Given the description of an element on the screen output the (x, y) to click on. 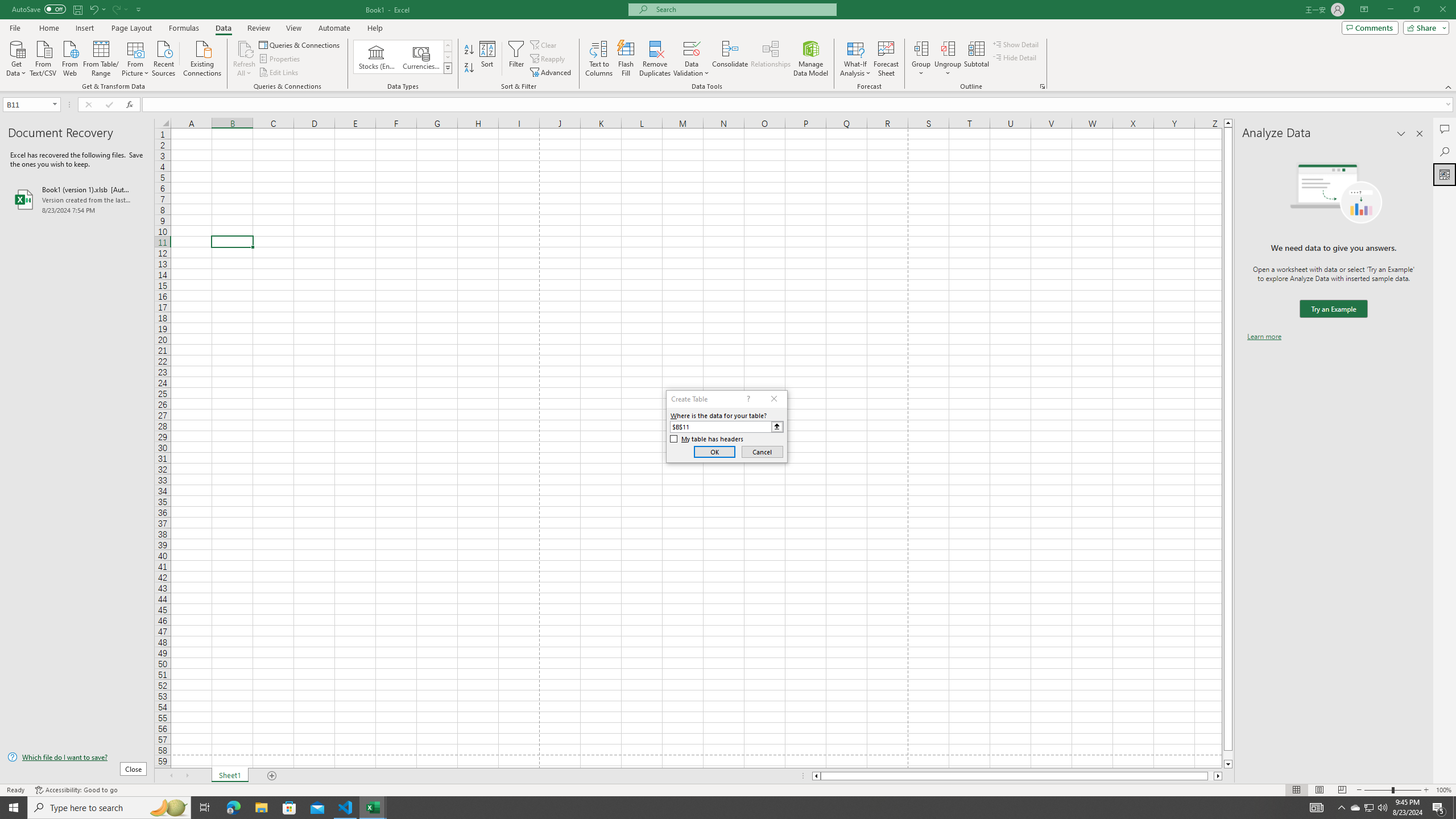
From Web (69, 57)
Advanced... (551, 72)
Data Types (448, 67)
Get Data (16, 57)
Hide Detail (1014, 56)
From Table/Range (100, 57)
